Given the description of an element on the screen output the (x, y) to click on. 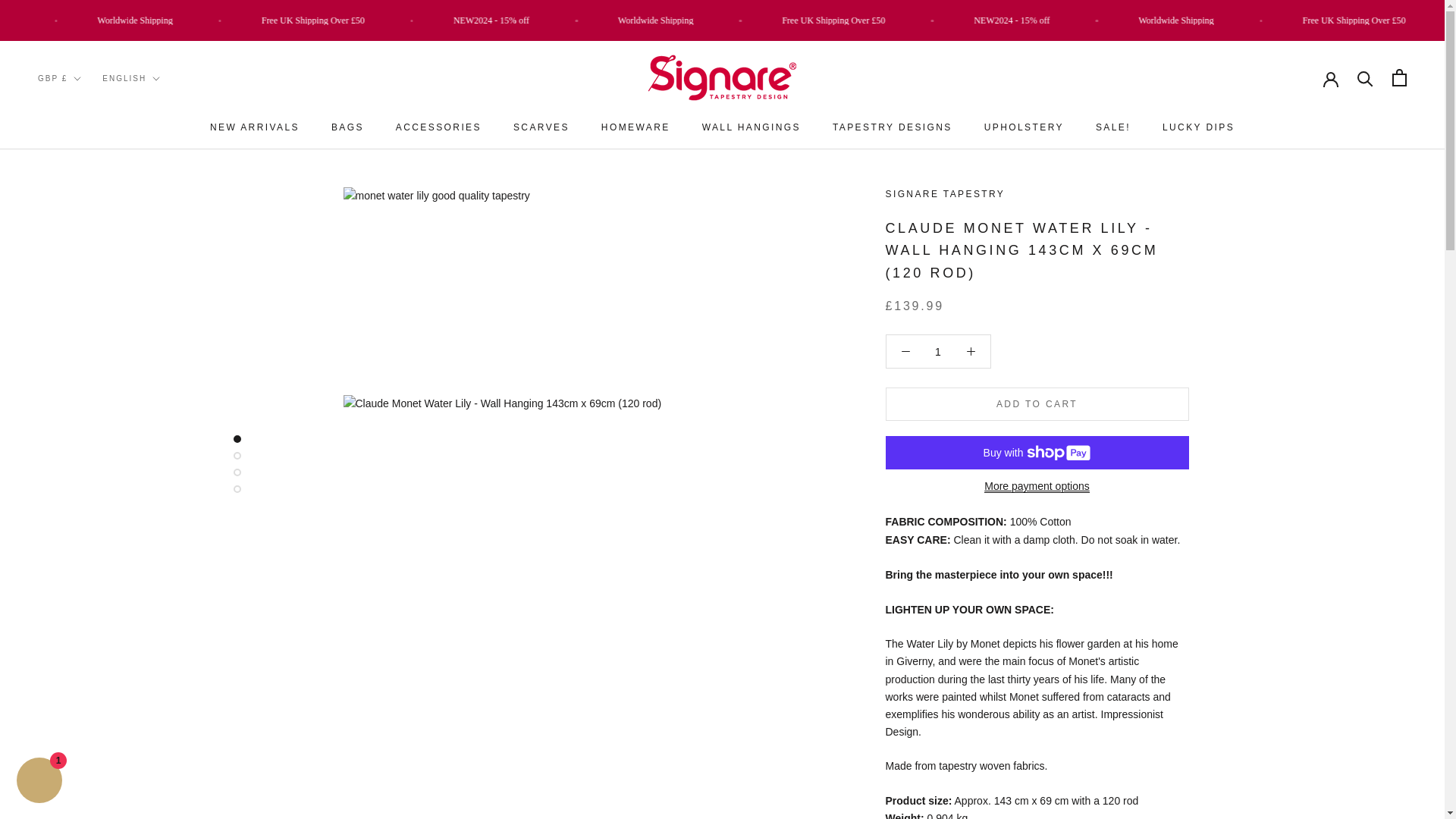
Shopify online store chat (38, 781)
1 (938, 351)
